Given the description of an element on the screen output the (x, y) to click on. 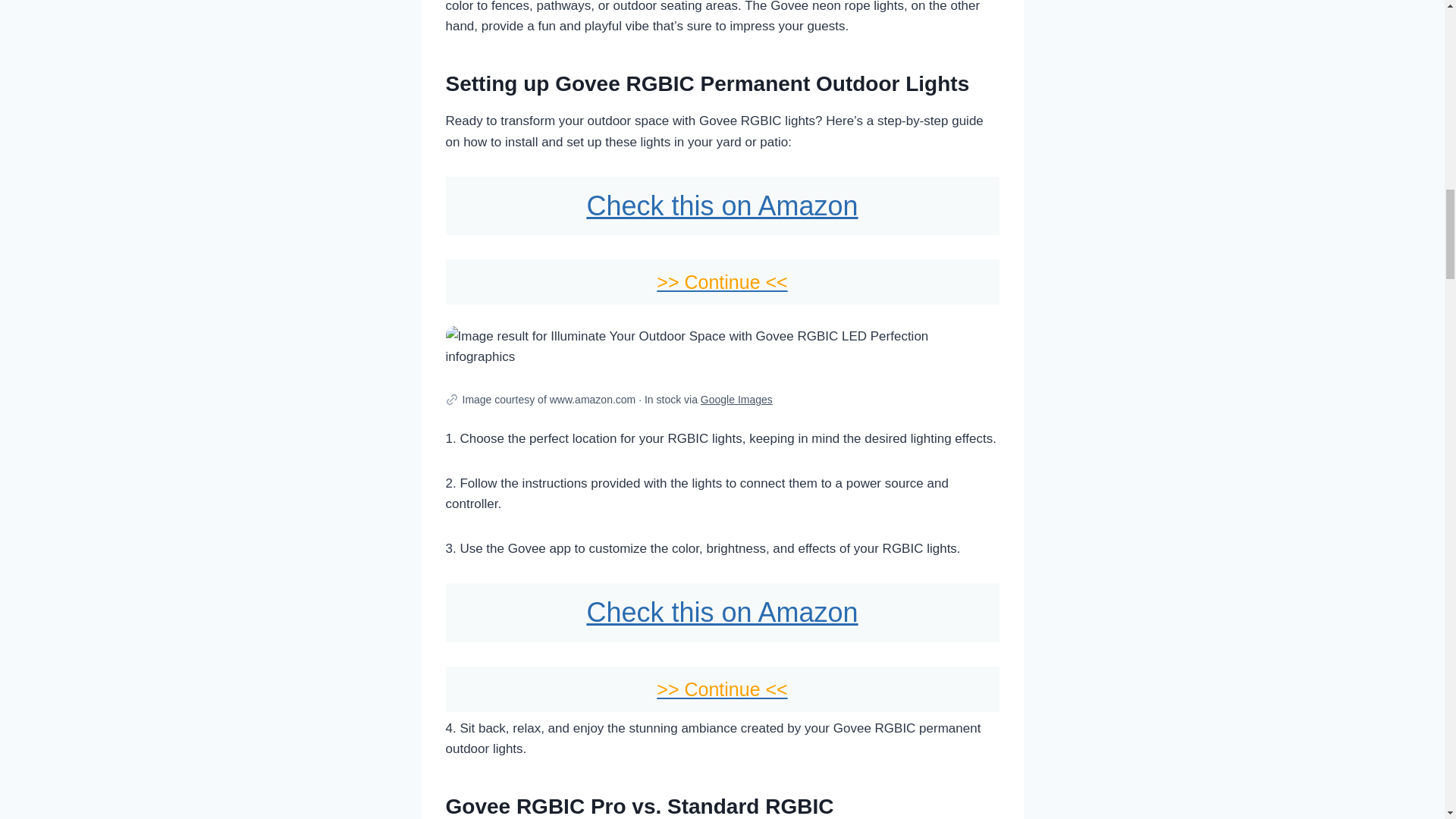
Google Images (736, 399)
